Given the description of an element on the screen output the (x, y) to click on. 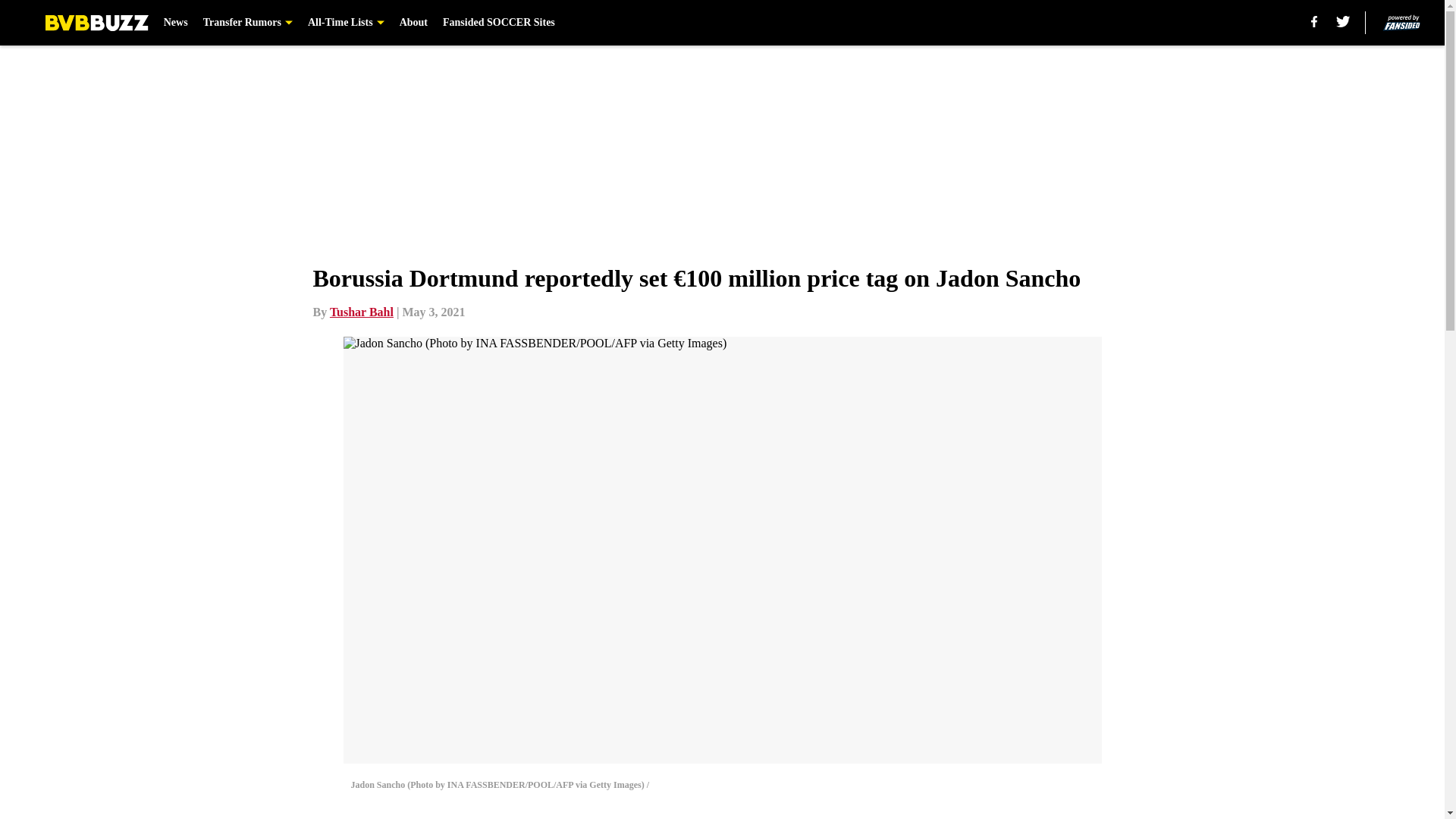
Tushar Bahl (361, 311)
Fansided SOCCER Sites (498, 22)
About (413, 22)
News (175, 22)
